Given the description of an element on the screen output the (x, y) to click on. 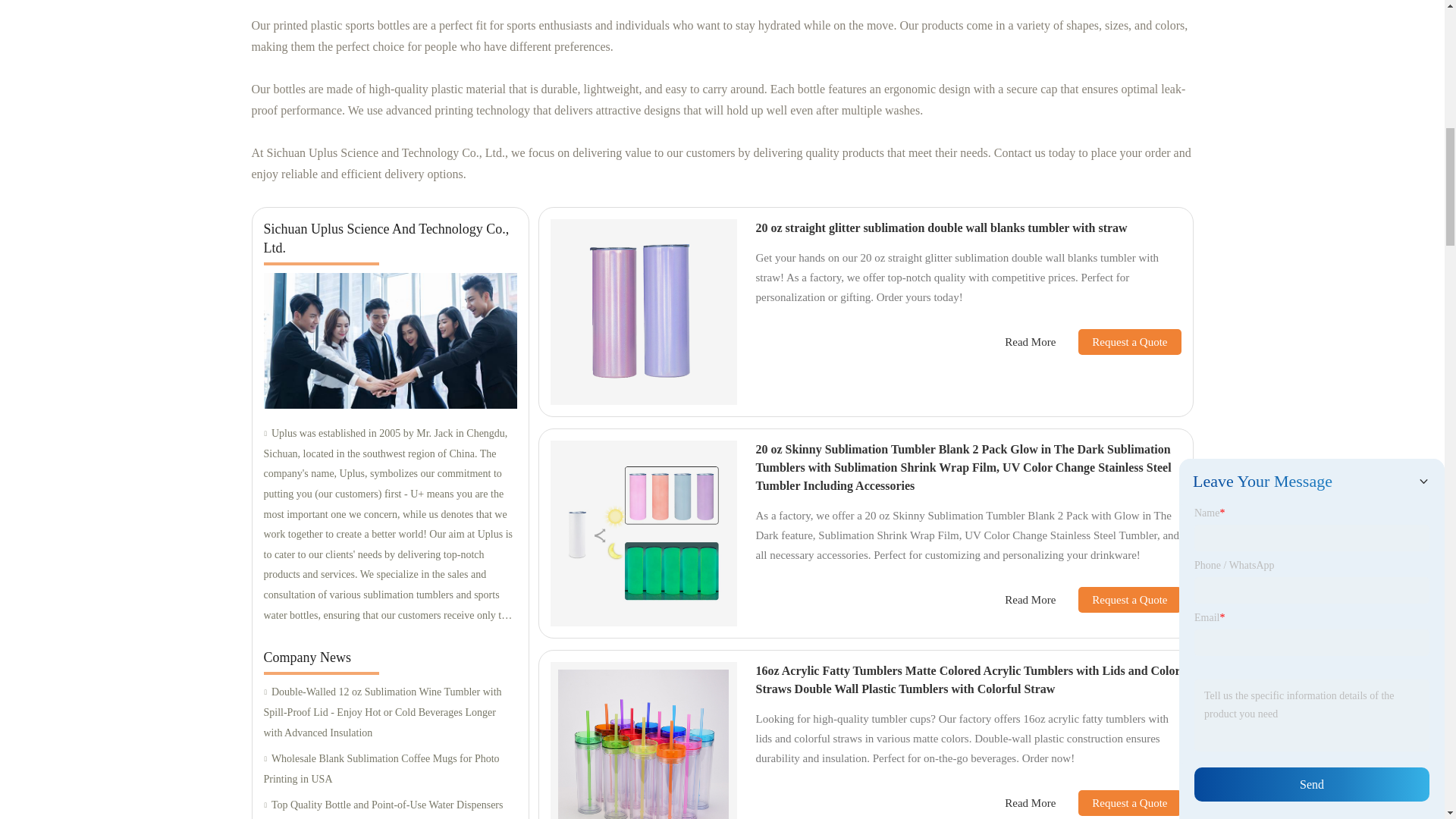
Request a Quote (1117, 341)
Request a Quote (1117, 599)
Read More (1029, 342)
Read More (1029, 600)
